Given the description of an element on the screen output the (x, y) to click on. 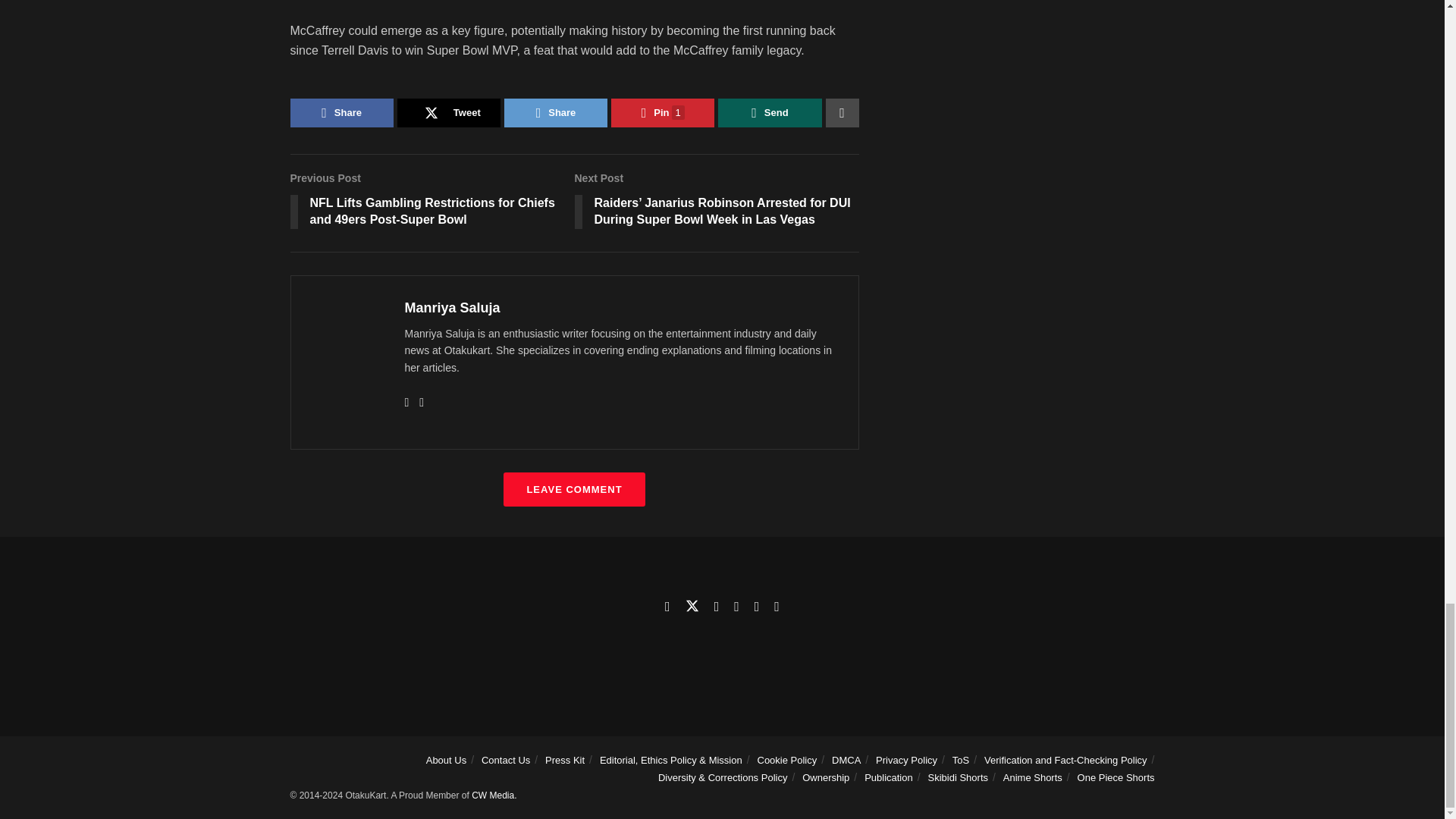
Tweet (448, 112)
Manriya Saluja (452, 307)
Pin1 (662, 112)
Share (341, 112)
Share (555, 112)
Send (769, 112)
